Given the description of an element on the screen output the (x, y) to click on. 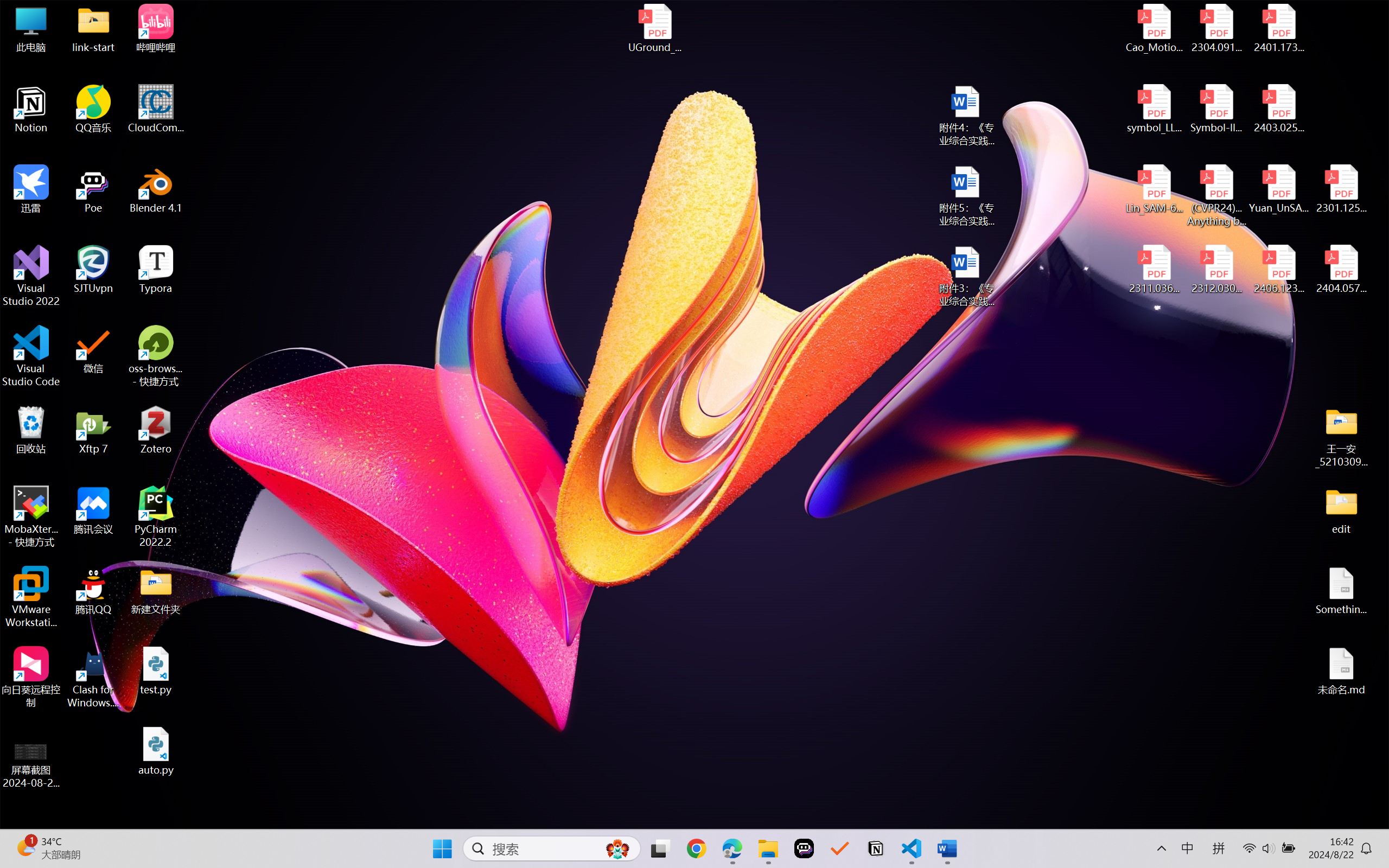
symbol_LLM.pdf (1154, 109)
UGround_paper.pdf (654, 28)
